Given the description of an element on the screen output the (x, y) to click on. 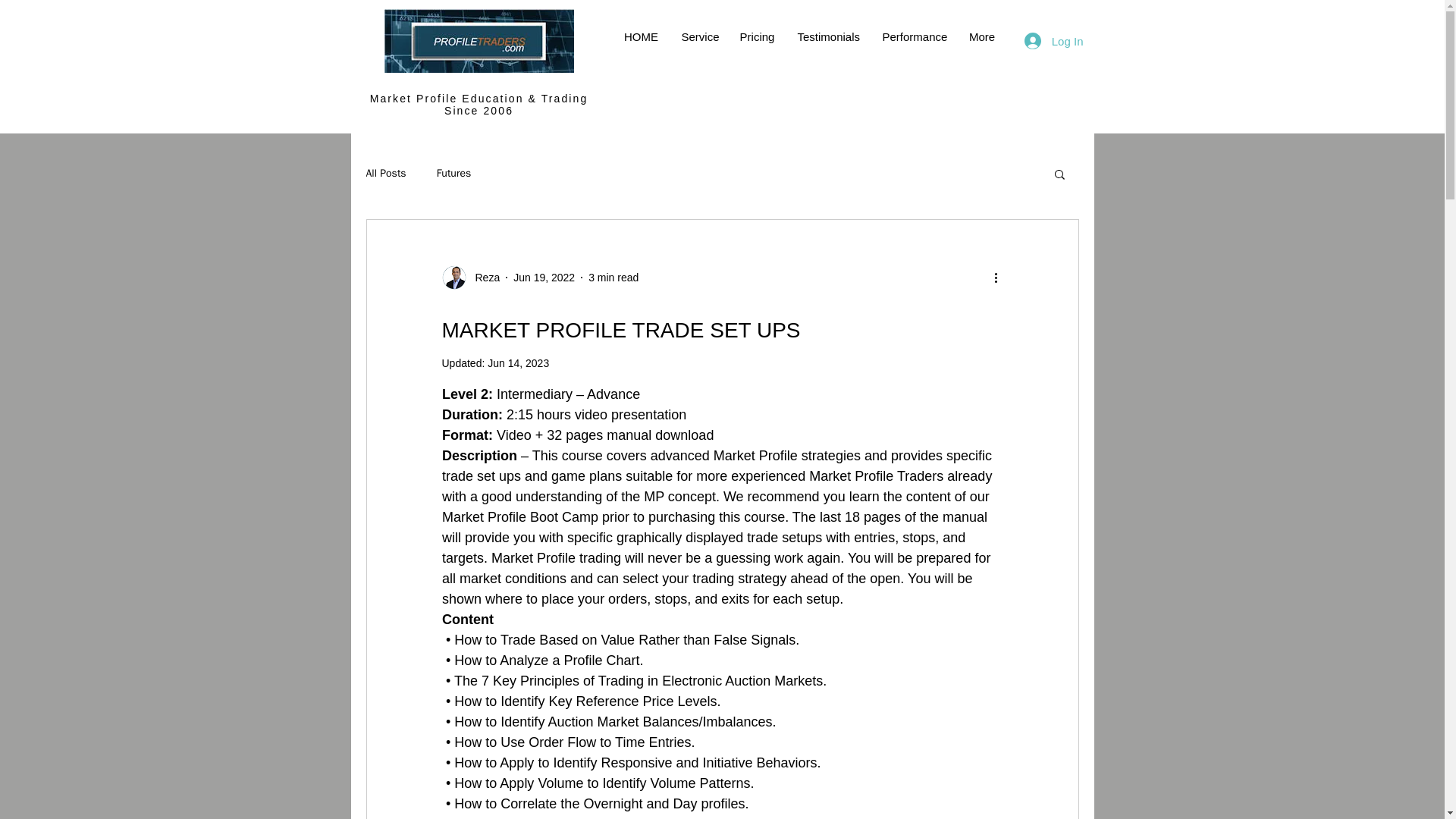
3 min read (613, 277)
Jun 14, 2023 (517, 363)
Jun 19, 2022 (544, 277)
Futures (453, 173)
HOME (640, 37)
Log In (1053, 40)
Testimonials (828, 37)
Service (699, 37)
Reza (470, 277)
Performance (913, 37)
Pricing (757, 37)
All Posts (385, 173)
Reza (482, 277)
